Given the description of an element on the screen output the (x, y) to click on. 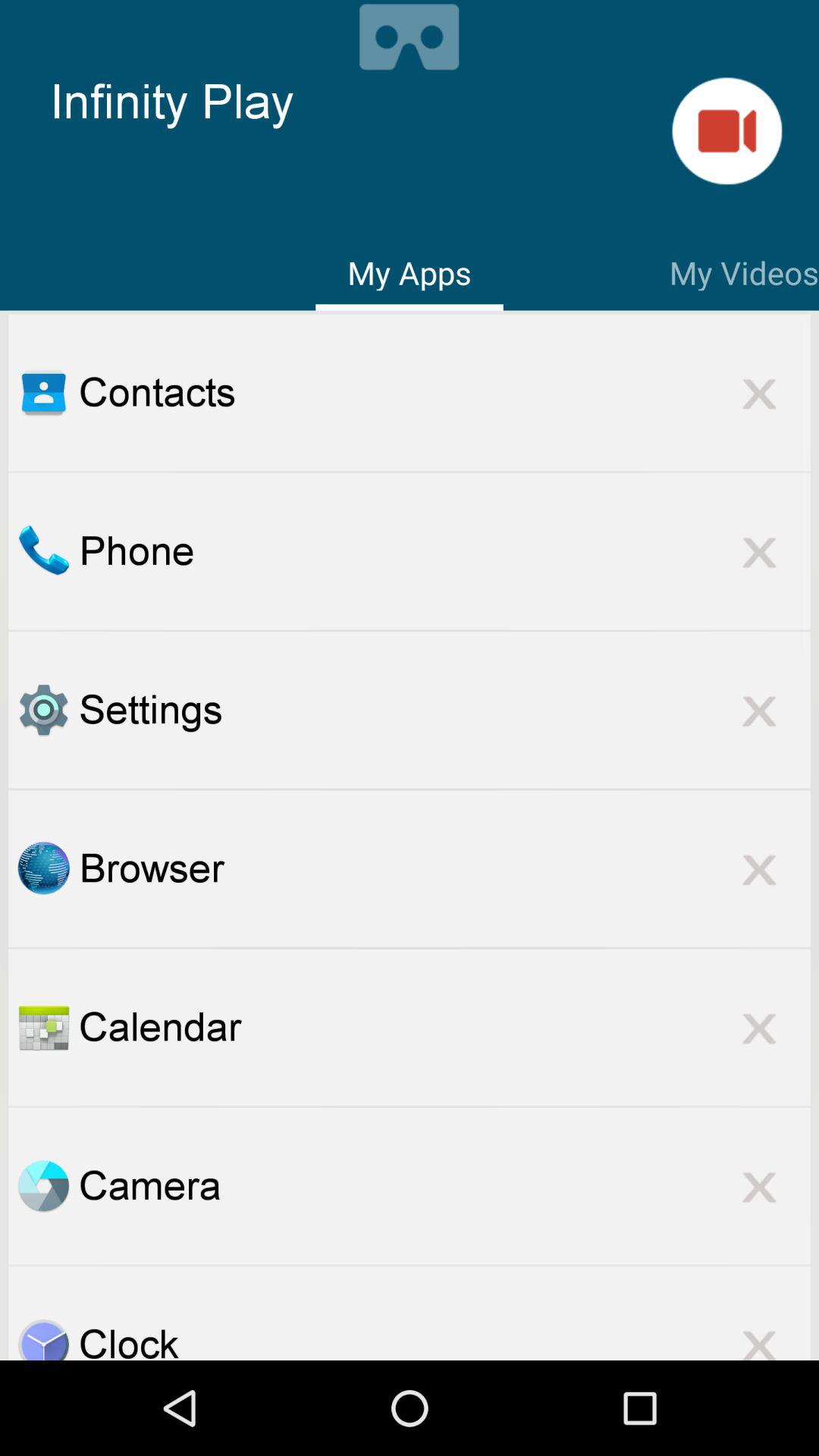
go to settings (43, 709)
